Given the description of an element on the screen output the (x, y) to click on. 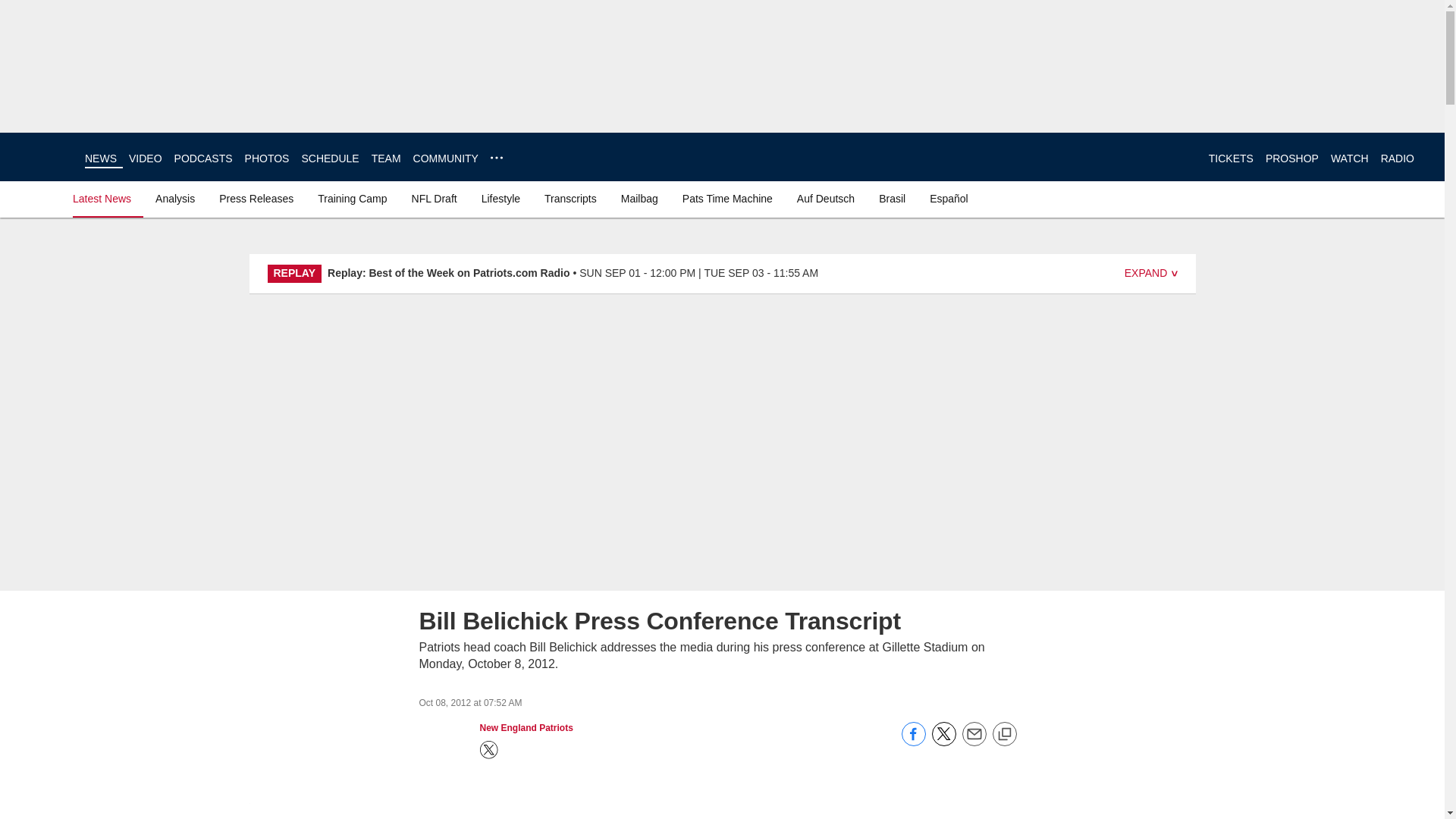
EXPAND (1150, 273)
Latest News (104, 198)
SCHEDULE (329, 158)
Training Camp (352, 198)
Transcripts (570, 198)
RADIO (1396, 158)
TICKETS (1230, 158)
Auf Deutsch (825, 198)
Analysis (174, 198)
PODCASTS (203, 158)
